Given the description of an element on the screen output the (x, y) to click on. 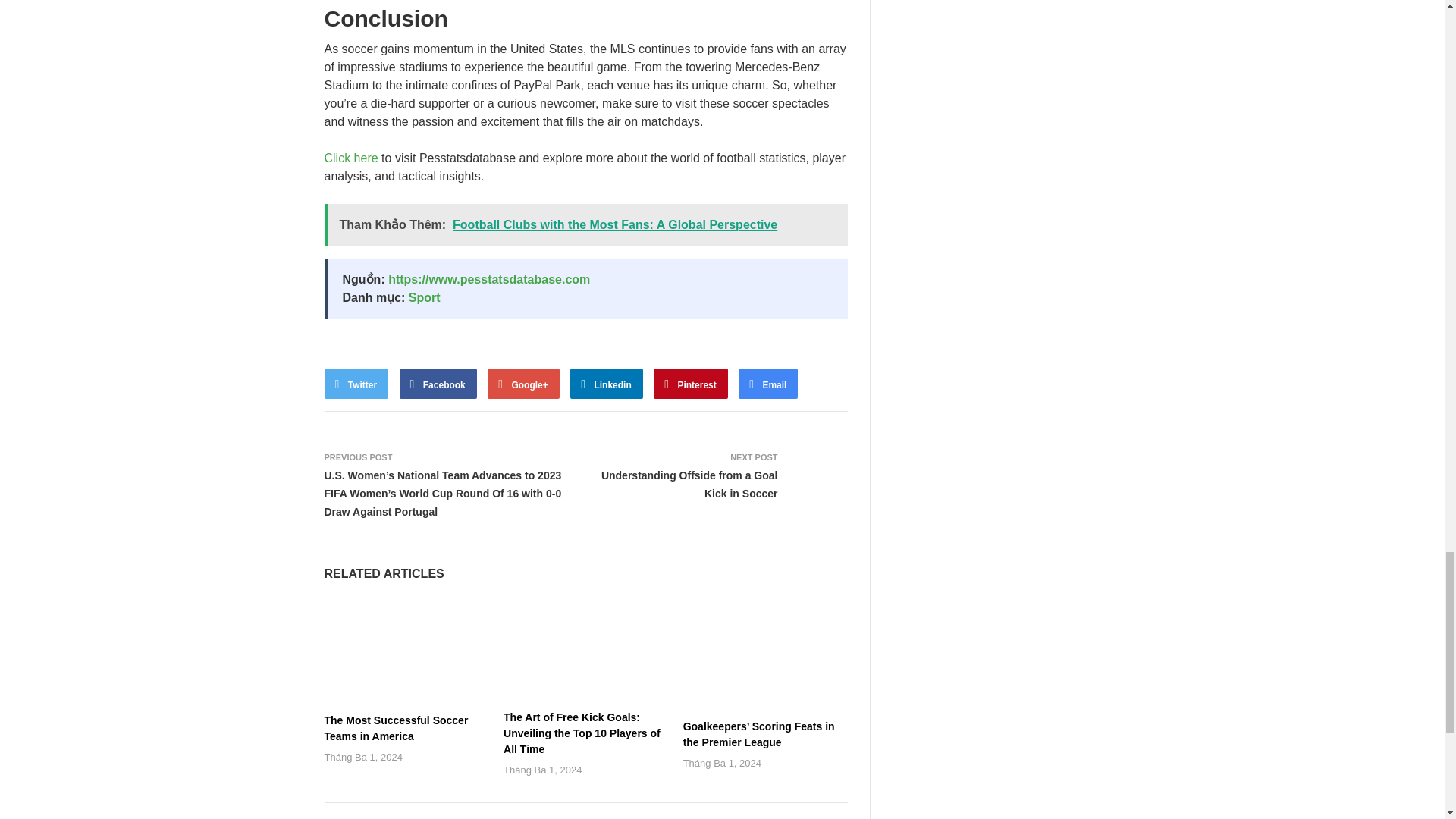
Linkedin (606, 383)
Pinterest (690, 383)
Email (767, 383)
Understanding Offside from a Goal Kick in Soccer (689, 484)
Sport (425, 297)
Click here (351, 157)
Twitter (356, 383)
Facebook (437, 383)
